Given the description of an element on the screen output the (x, y) to click on. 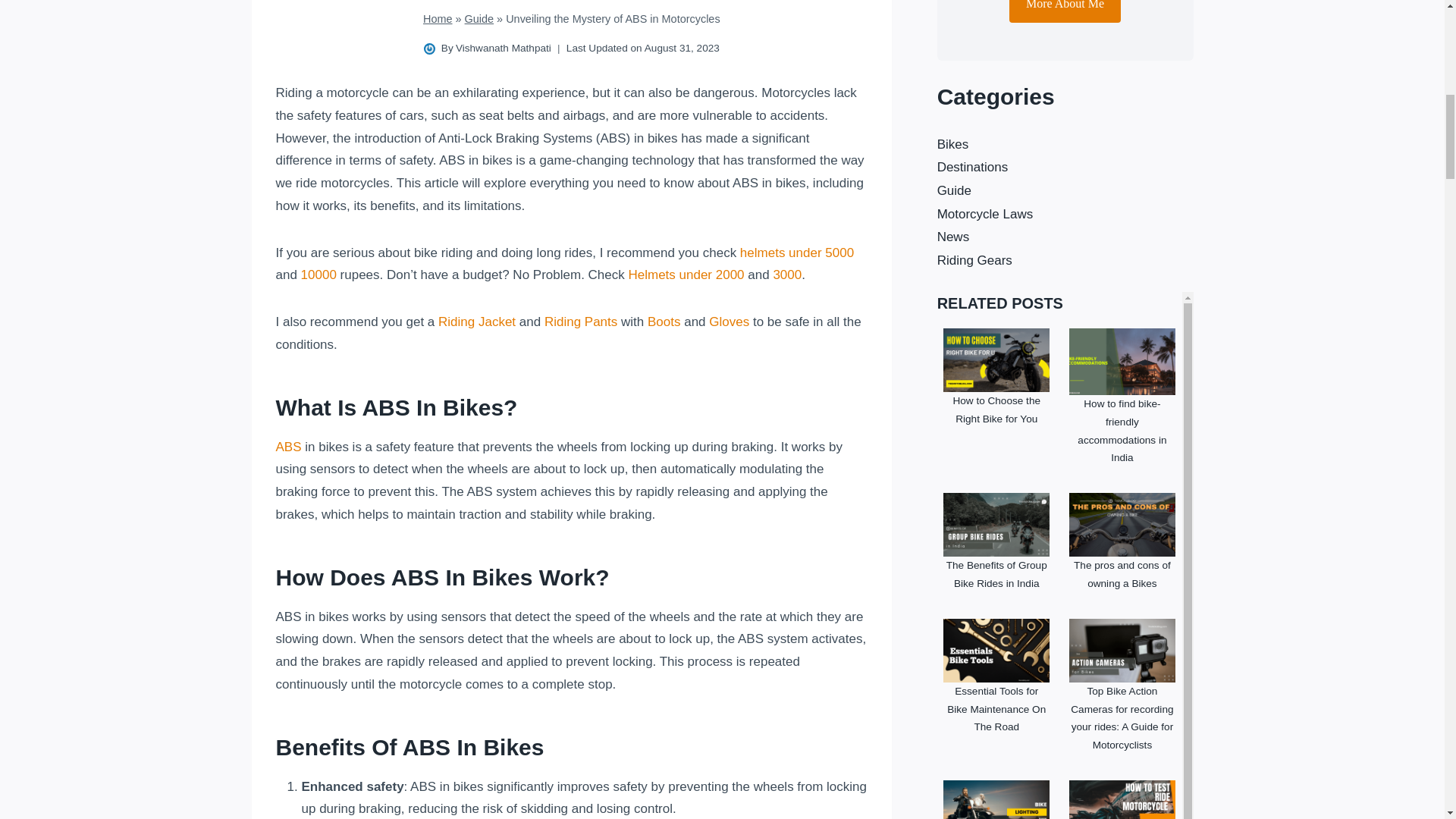
ABS (288, 446)
Guide (479, 19)
Riding Pants (580, 321)
Gloves (729, 321)
Boots (663, 321)
Helmets under 2000 (685, 274)
Home (437, 19)
Vishwanath Mathpati (503, 48)
10000 (318, 274)
Riding Jacket (476, 321)
3000 (787, 274)
helmets under 5000 (796, 252)
